Given the description of an element on the screen output the (x, y) to click on. 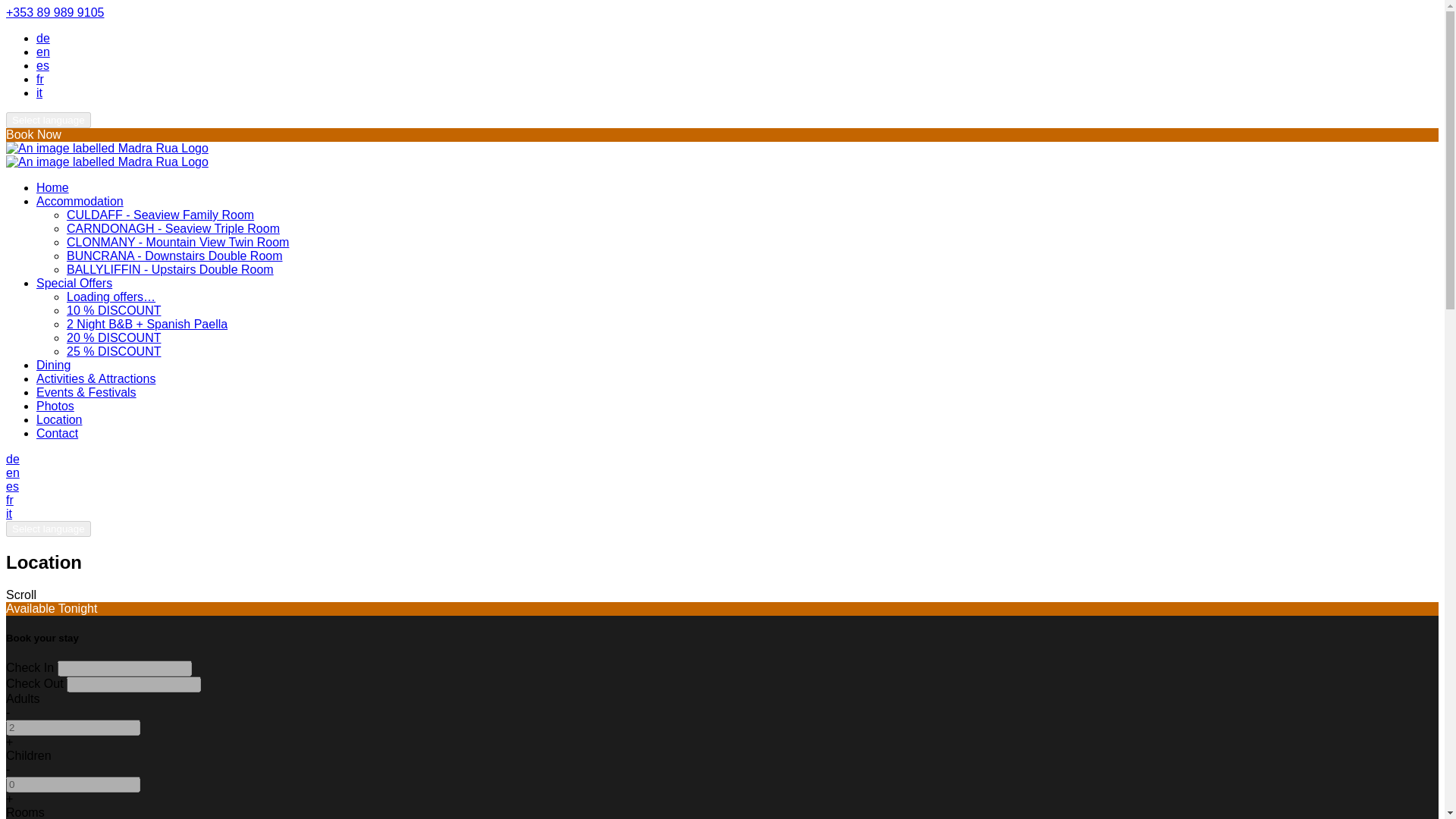
it (8, 513)
de (42, 38)
it (39, 92)
Select language (47, 119)
en (12, 472)
de (12, 459)
es (11, 486)
CLONMANY - Mountain View Twin Room (177, 241)
BUNCRANA - Downstairs Double Room (174, 255)
fr (9, 499)
Special Offers (74, 282)
Photos (55, 405)
Select language (47, 528)
fr (39, 78)
Accommodation (79, 201)
